Given the description of an element on the screen output the (x, y) to click on. 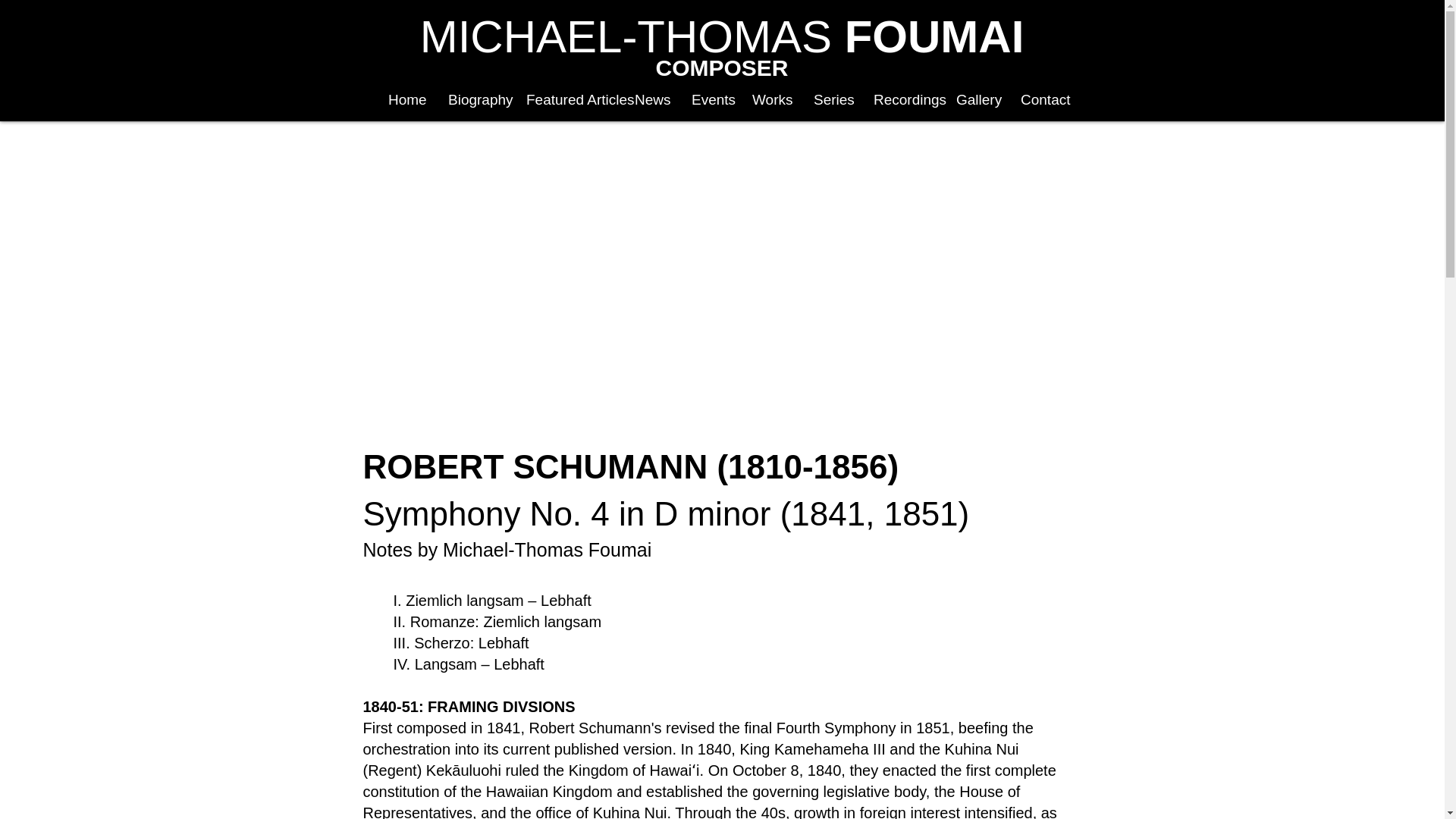
Recordings (898, 99)
Contact (1037, 99)
News (646, 99)
Series (827, 99)
Works (766, 99)
Gallery (972, 99)
Biography (471, 99)
Featured Articles (564, 99)
Events (705, 99)
Home (402, 99)
